Given the description of an element on the screen output the (x, y) to click on. 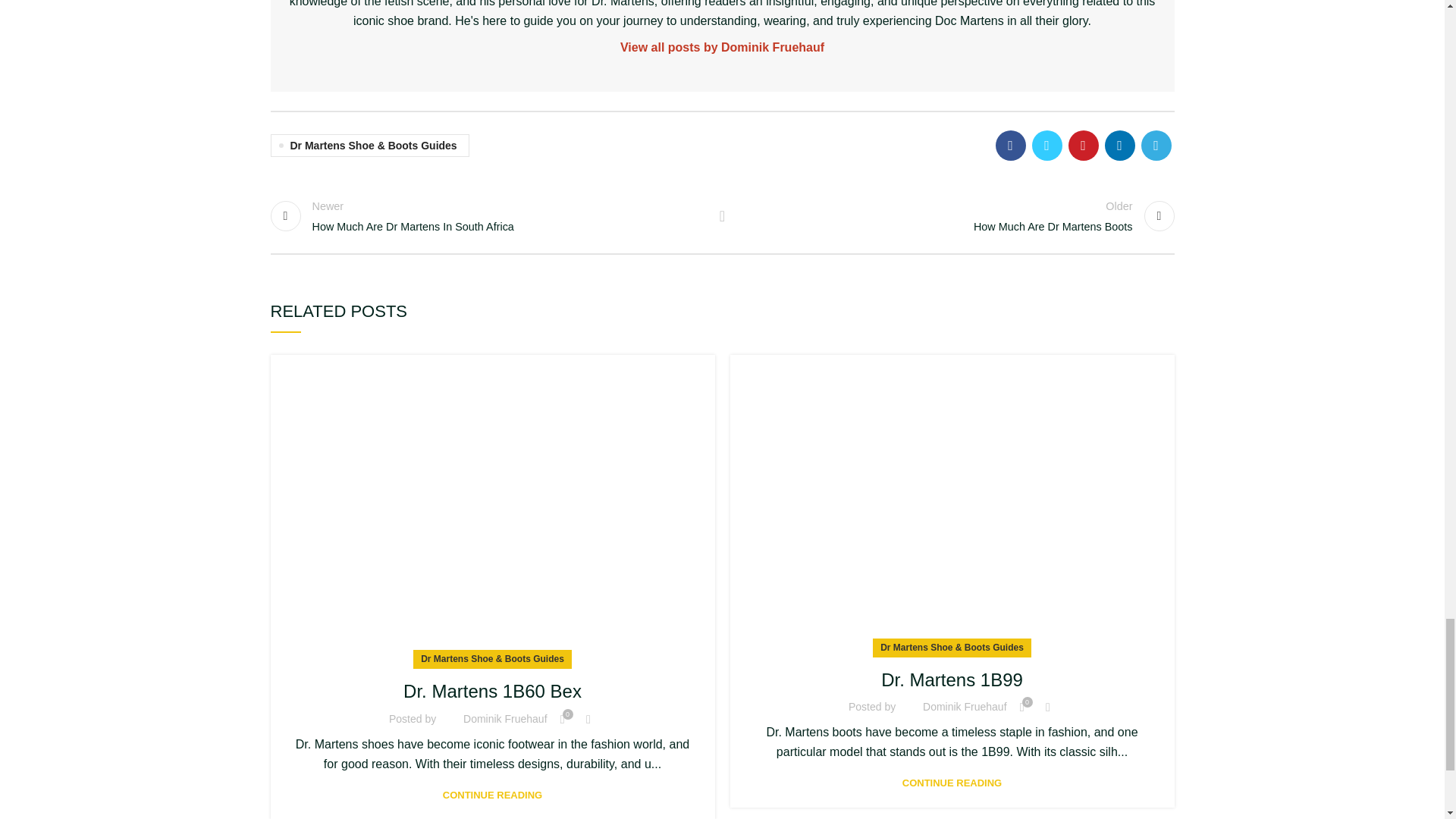
Dr. Martens 1B60 Bex (488, 216)
View all posts by Dominik Fruehauf (721, 215)
Dr. Martens 1B99 (722, 47)
